Given the description of an element on the screen output the (x, y) to click on. 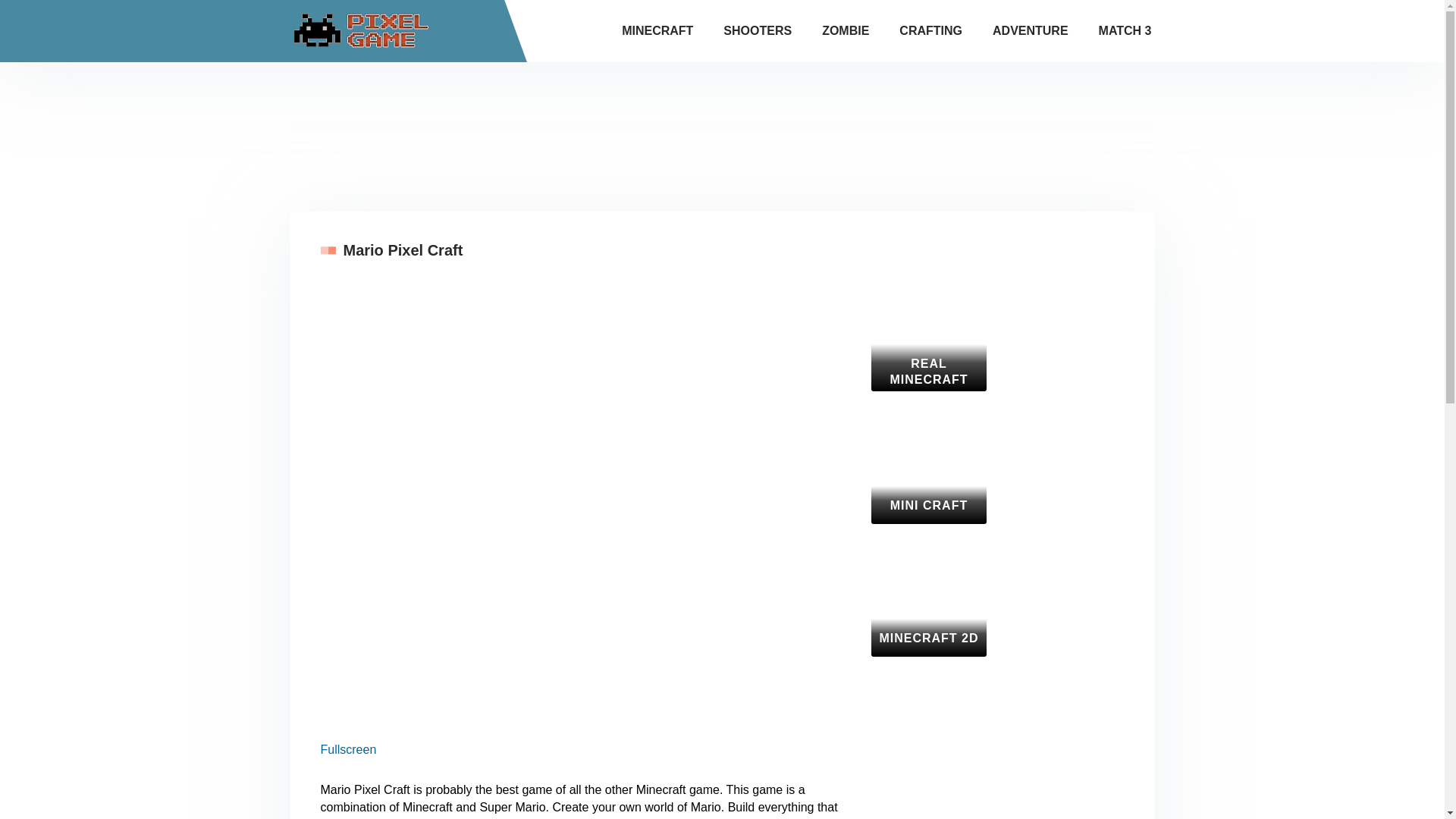
MINECRAFT (657, 30)
MINECRAFT 2D (928, 601)
CRAFTING (930, 30)
REAL MINECRAFT (928, 336)
ADVENTURE (1030, 30)
MINI CRAFT (928, 469)
Fullscreen (347, 748)
SHOOTERS (757, 30)
